Given the description of an element on the screen output the (x, y) to click on. 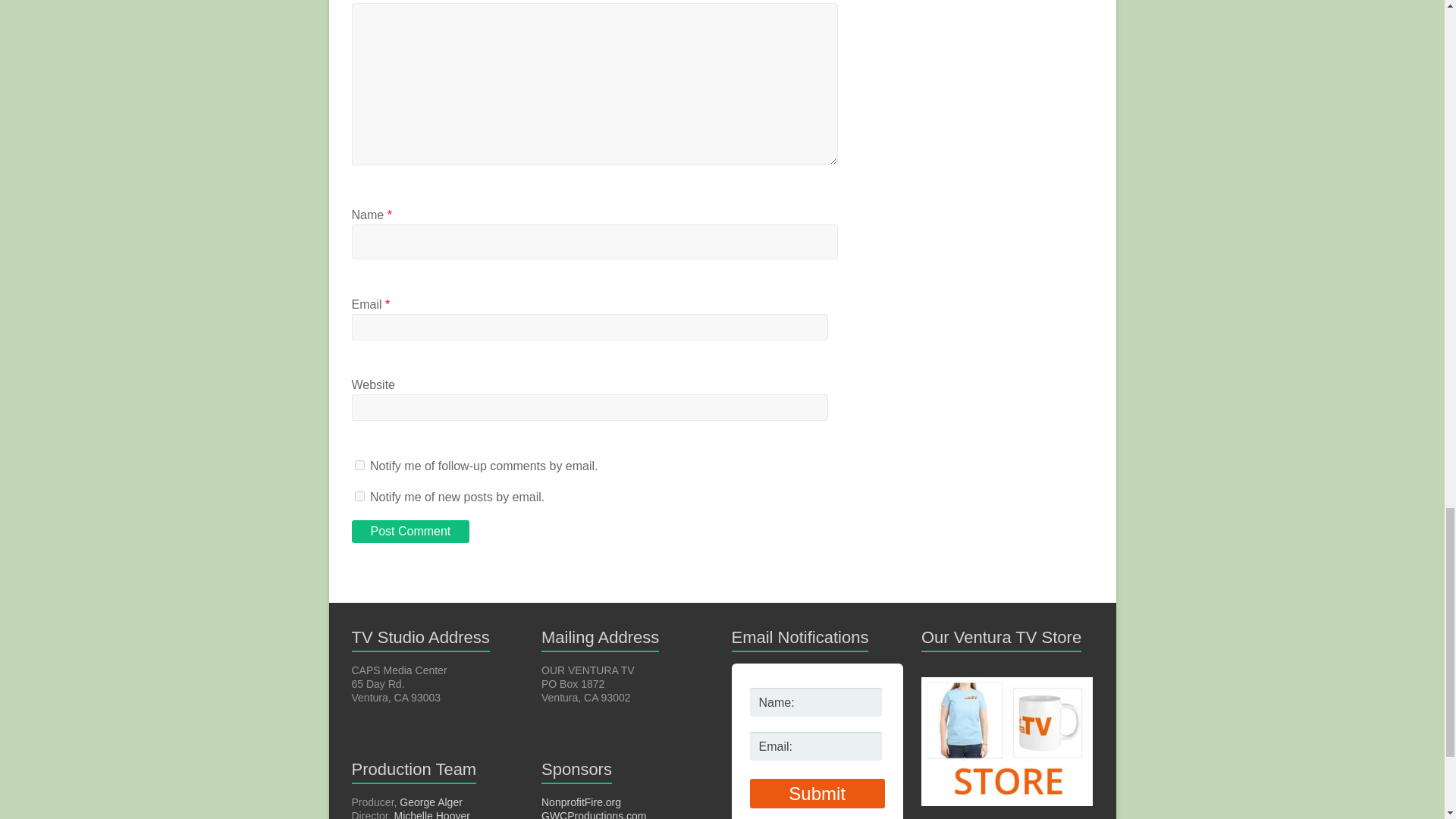
Post Comment (411, 531)
Submit (816, 793)
Email: (815, 746)
Post Comment (411, 531)
Name: (815, 701)
subscribe (360, 464)
subscribe (360, 496)
